Given the description of an element on the screen output the (x, y) to click on. 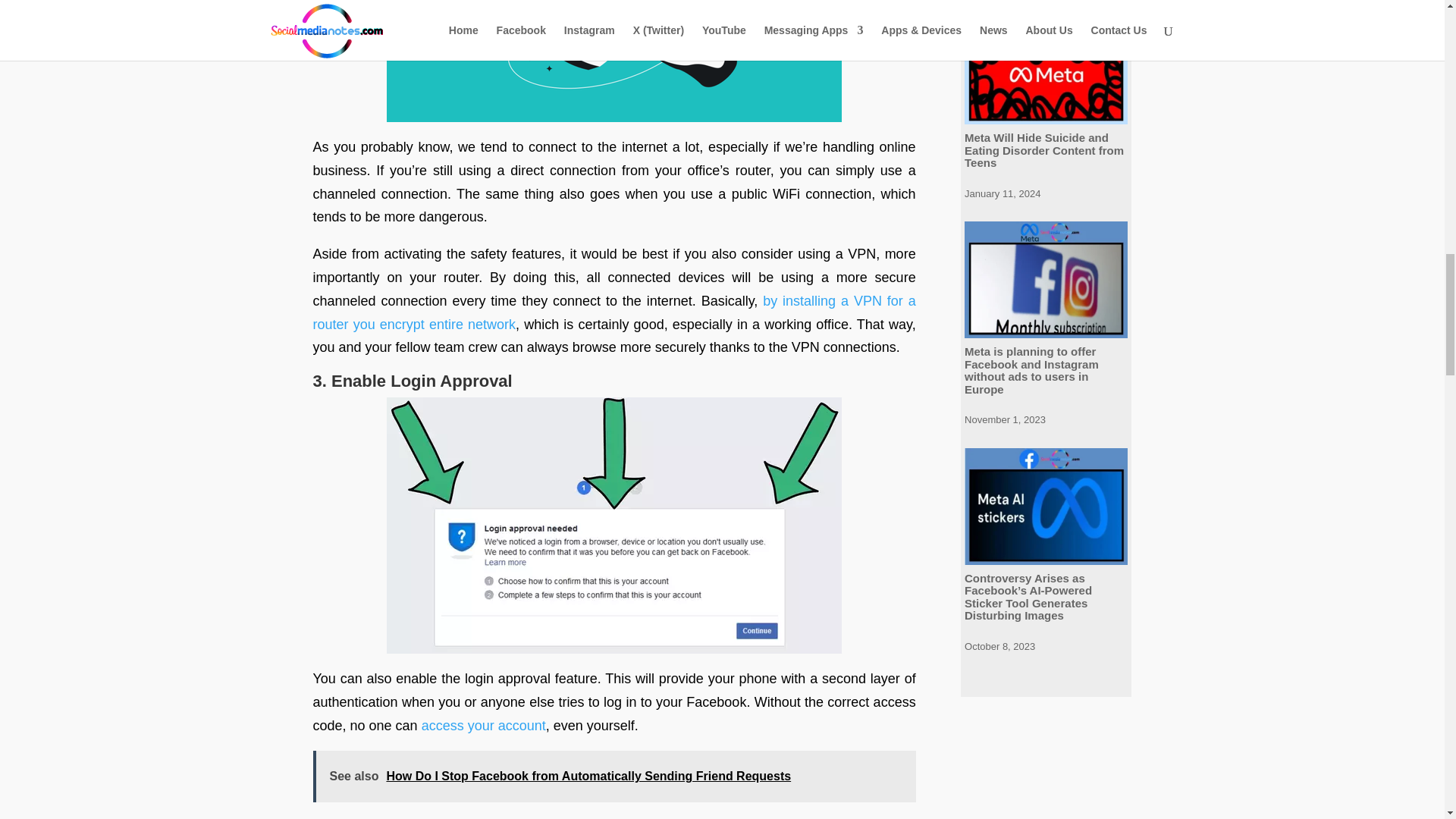
by installing a VPN for a router you encrypt entire network (614, 312)
